Given the description of an element on the screen output the (x, y) to click on. 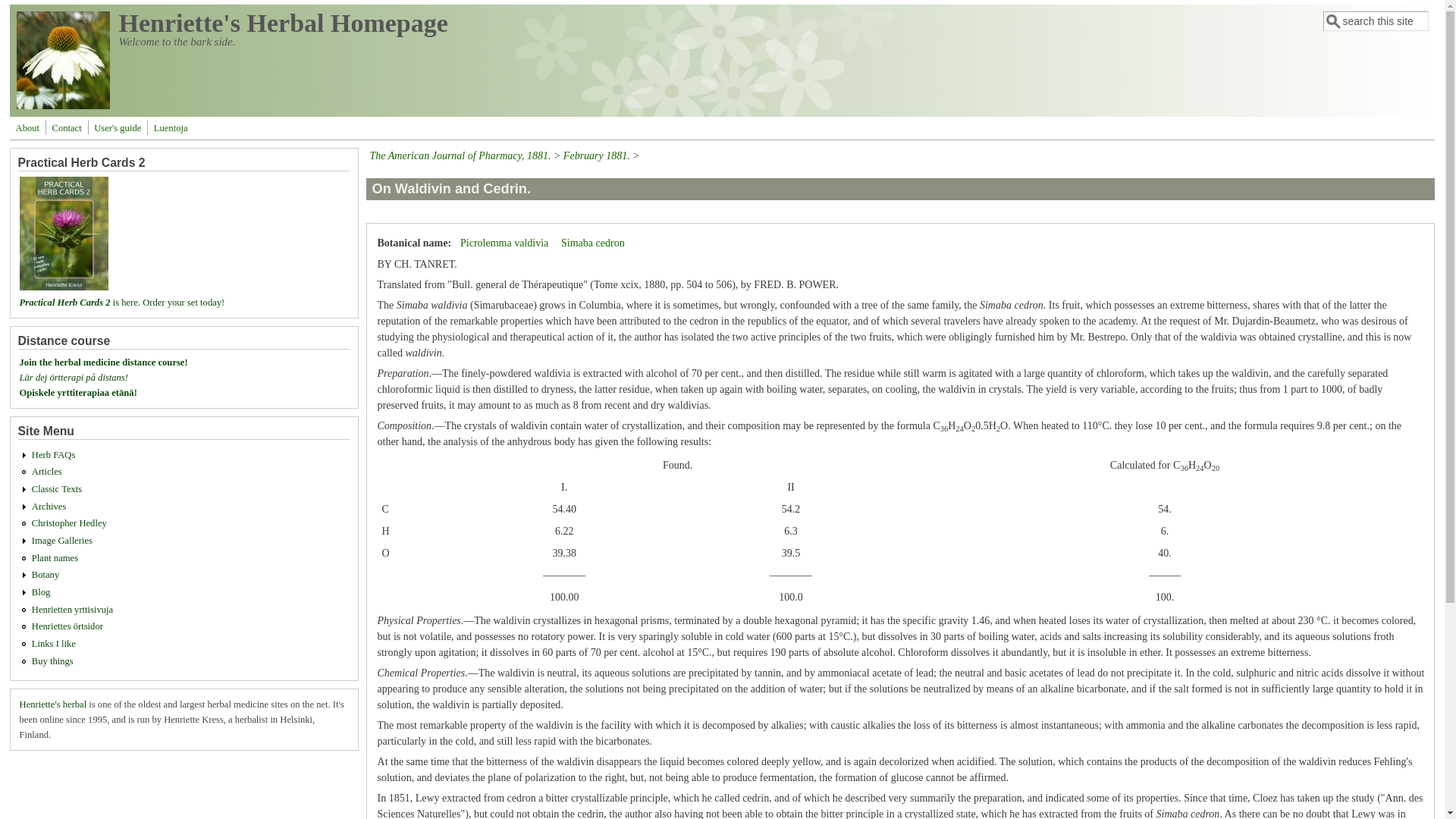
Home (63, 105)
Luentoja (170, 128)
About (27, 128)
Image Galleries (62, 540)
search this site (1375, 21)
Plant names (55, 557)
Botanical keys with photos by Jan De Langhe. (45, 574)
Christopher Hedley (69, 522)
Send me a comment. (66, 128)
Tips on the best way to find things on this site. (117, 128)
Links I like (53, 643)
Various illustrations and photos, in galleries. (62, 540)
Contact (66, 128)
Join the herbal medicine distance course! (103, 362)
